Given the description of an element on the screen output the (x, y) to click on. 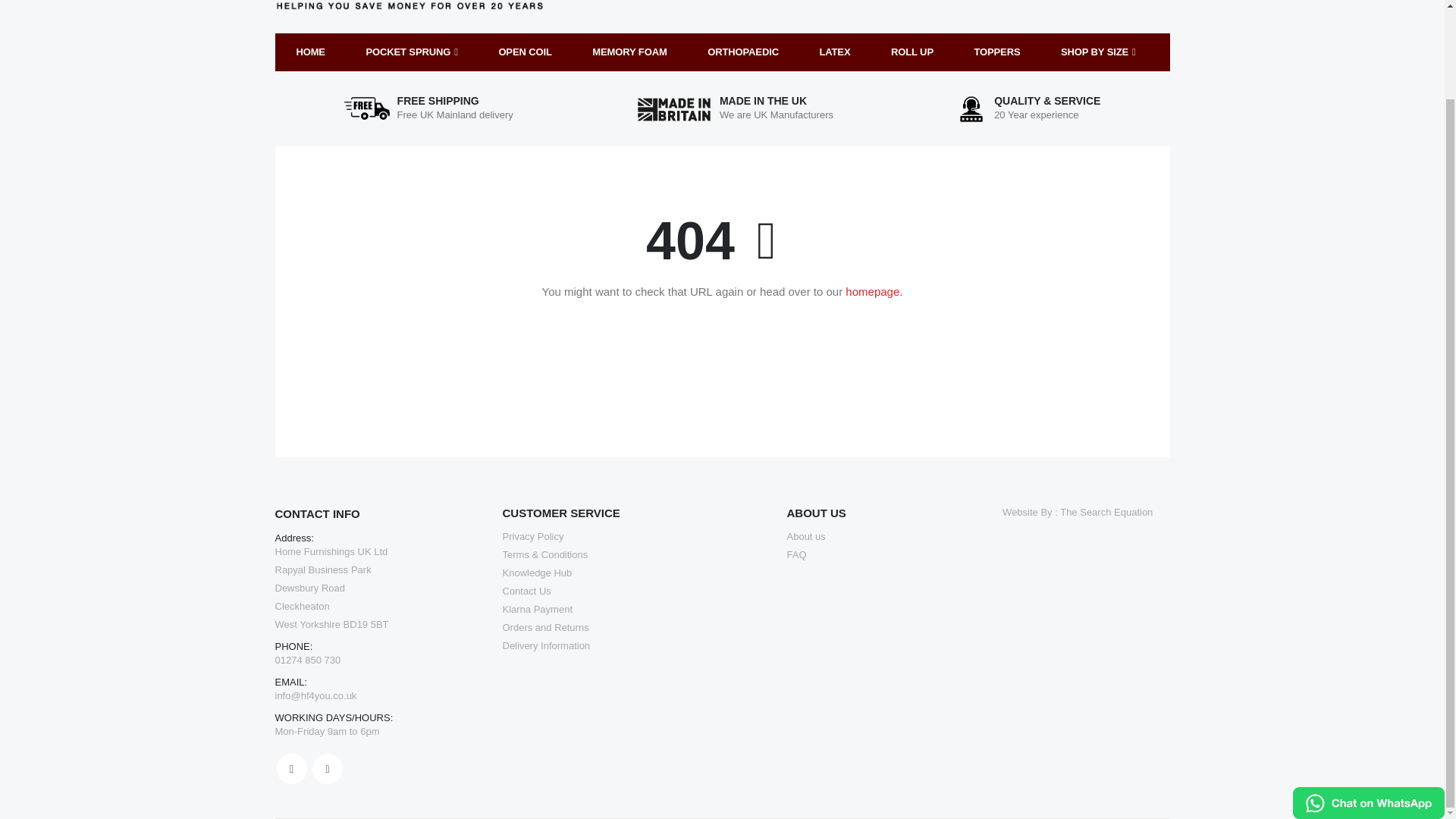
POCKET SPRUNG (410, 52)
ORTHOPAEDIC (743, 52)
Shop By Size (1098, 52)
ROLL UP (912, 52)
Memory Foam (628, 52)
SHOP BY SIZE (1098, 52)
TOPPERS (996, 52)
MEMORY FOAM (628, 52)
Roll Up (912, 52)
Latex (833, 52)
